Given the description of an element on the screen output the (x, y) to click on. 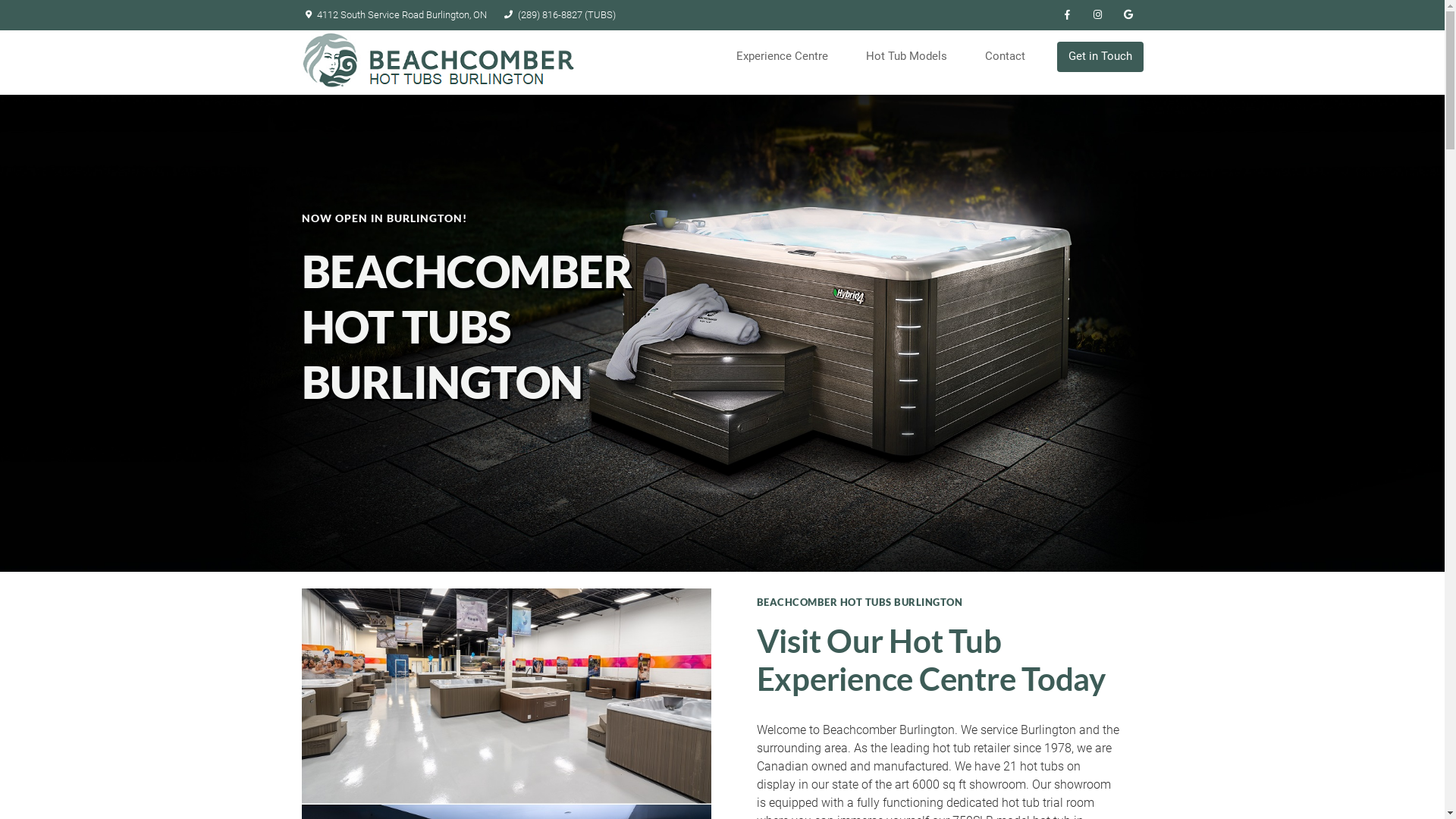
Experience Centre Element type: text (786, 56)
Google Maps Element type: hover (1128, 15)
Hot Tub Models Element type: text (911, 56)
Contact Element type: text (1009, 56)
(289) 816-8827 (TUBS) Element type: text (557, 14)
Instagram Element type: hover (1097, 15)
Get in Touch Element type: text (1100, 56)
Facebook Element type: hover (1067, 15)
